Given the description of an element on the screen output the (x, y) to click on. 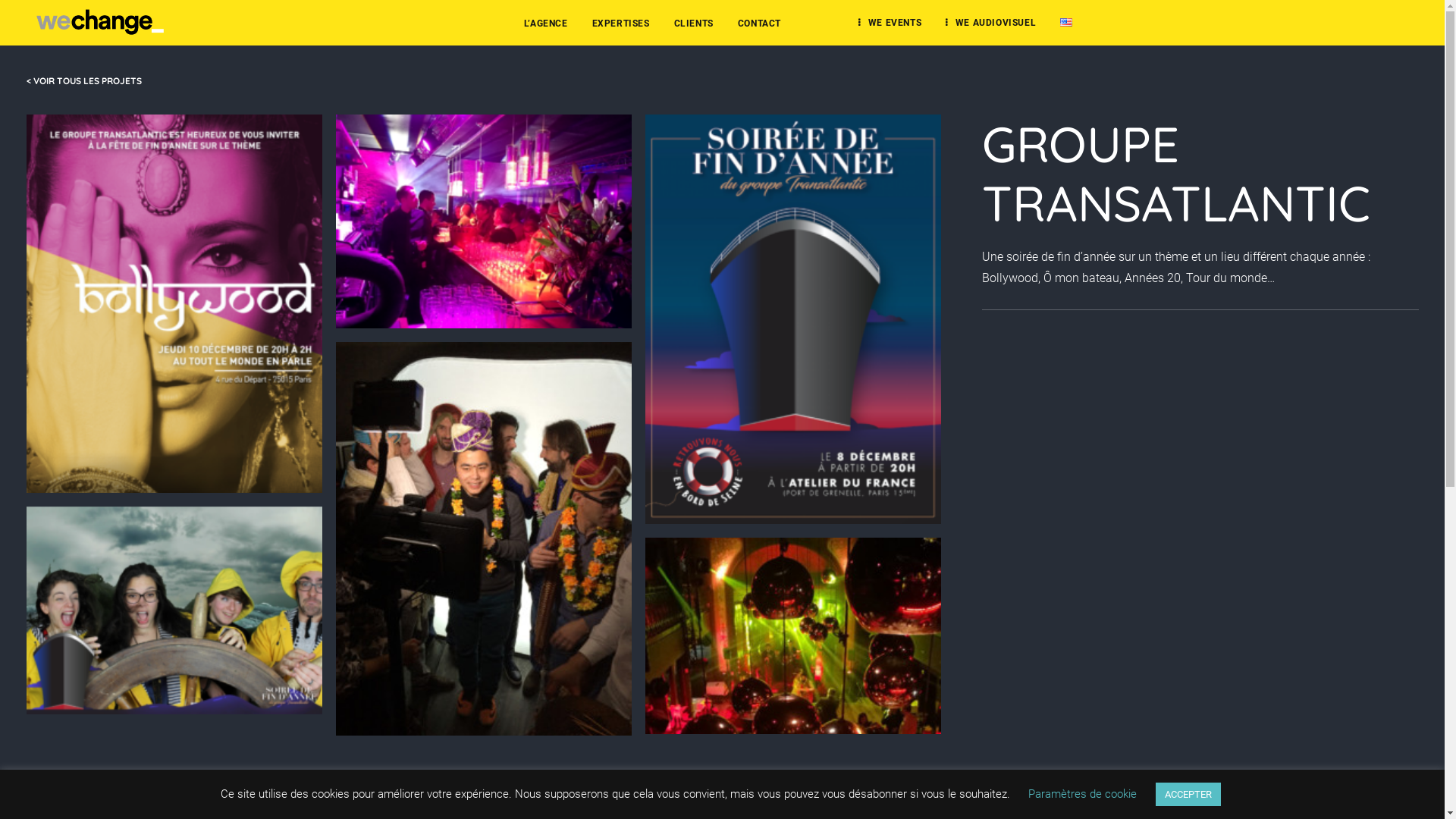
CONTACT Element type: text (759, 22)
WE AUDIOVISUEL Element type: text (990, 22)
ACCEPTER Element type: text (1187, 794)
EXPERTISES Element type: text (620, 22)
< VOIR TOUS LES PROJETS Element type: text (83, 80)
WE EVENTS Element type: text (889, 22)
CLIENTS Element type: text (693, 22)
